Given the description of an element on the screen output the (x, y) to click on. 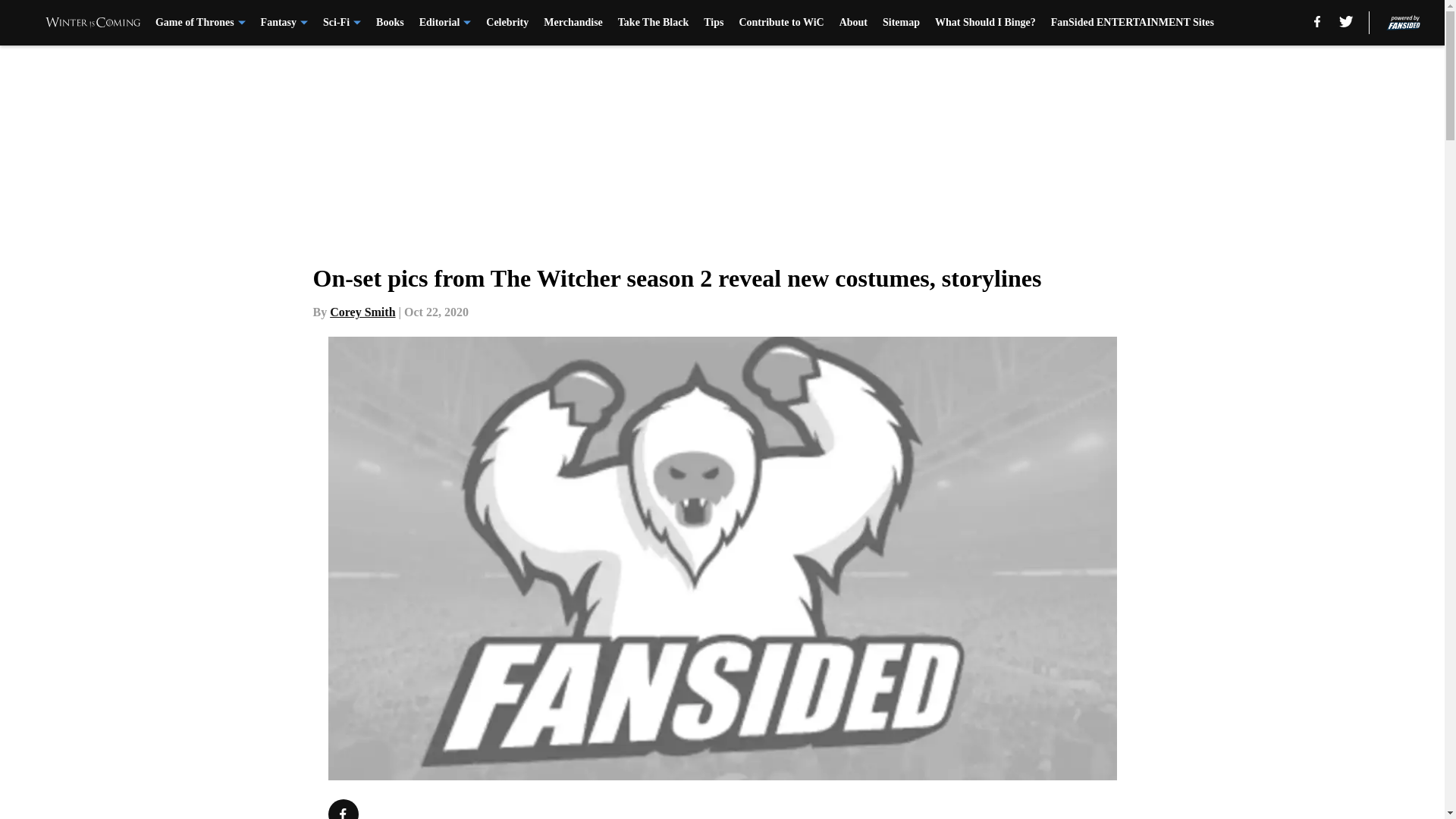
Sci-Fi (342, 22)
Fantasy (283, 22)
Books (389, 22)
Editorial (445, 22)
Game of Thrones (200, 22)
Celebrity (507, 22)
